Given the description of an element on the screen output the (x, y) to click on. 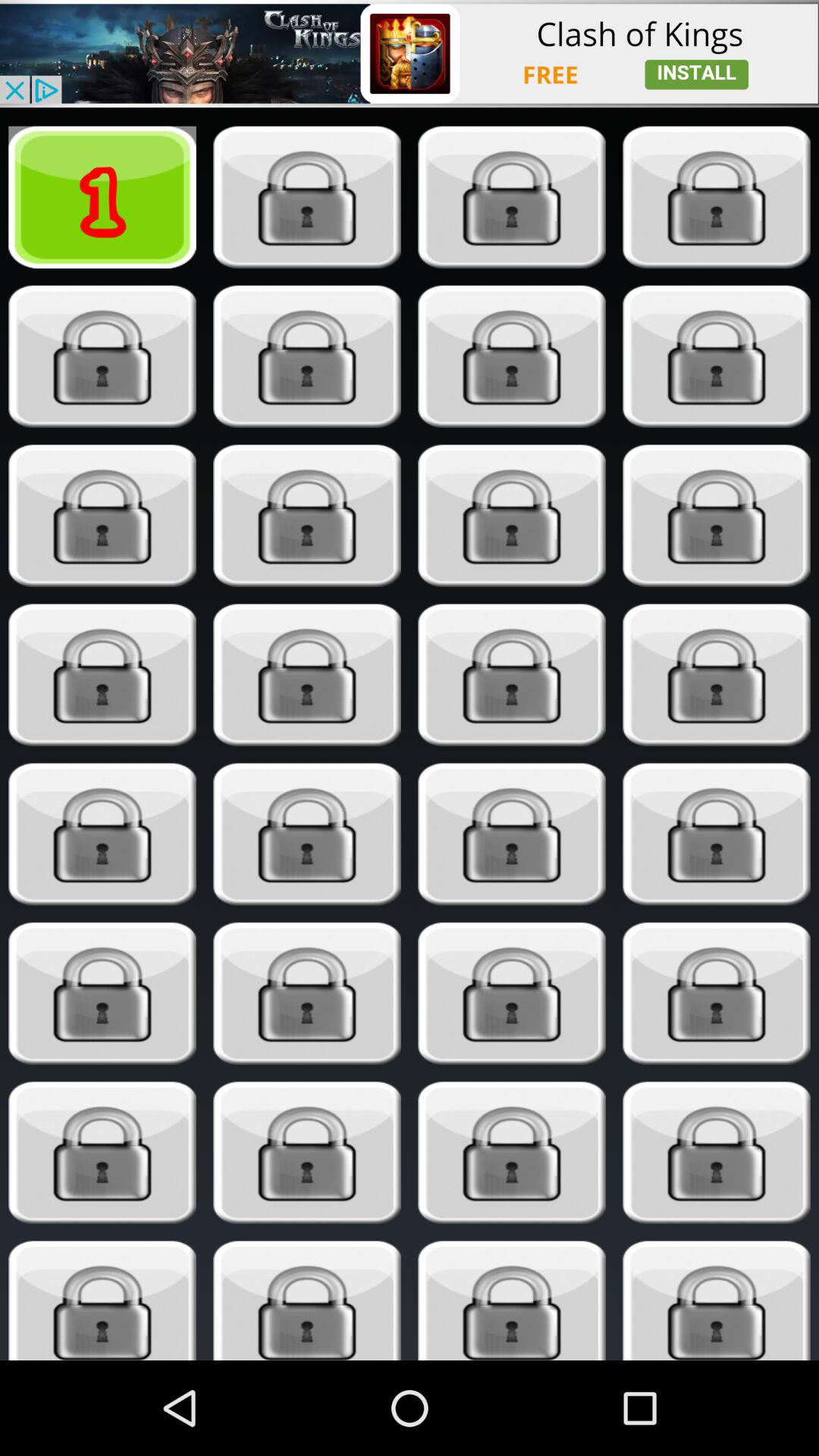
open the locked box (306, 197)
